Given the description of an element on the screen output the (x, y) to click on. 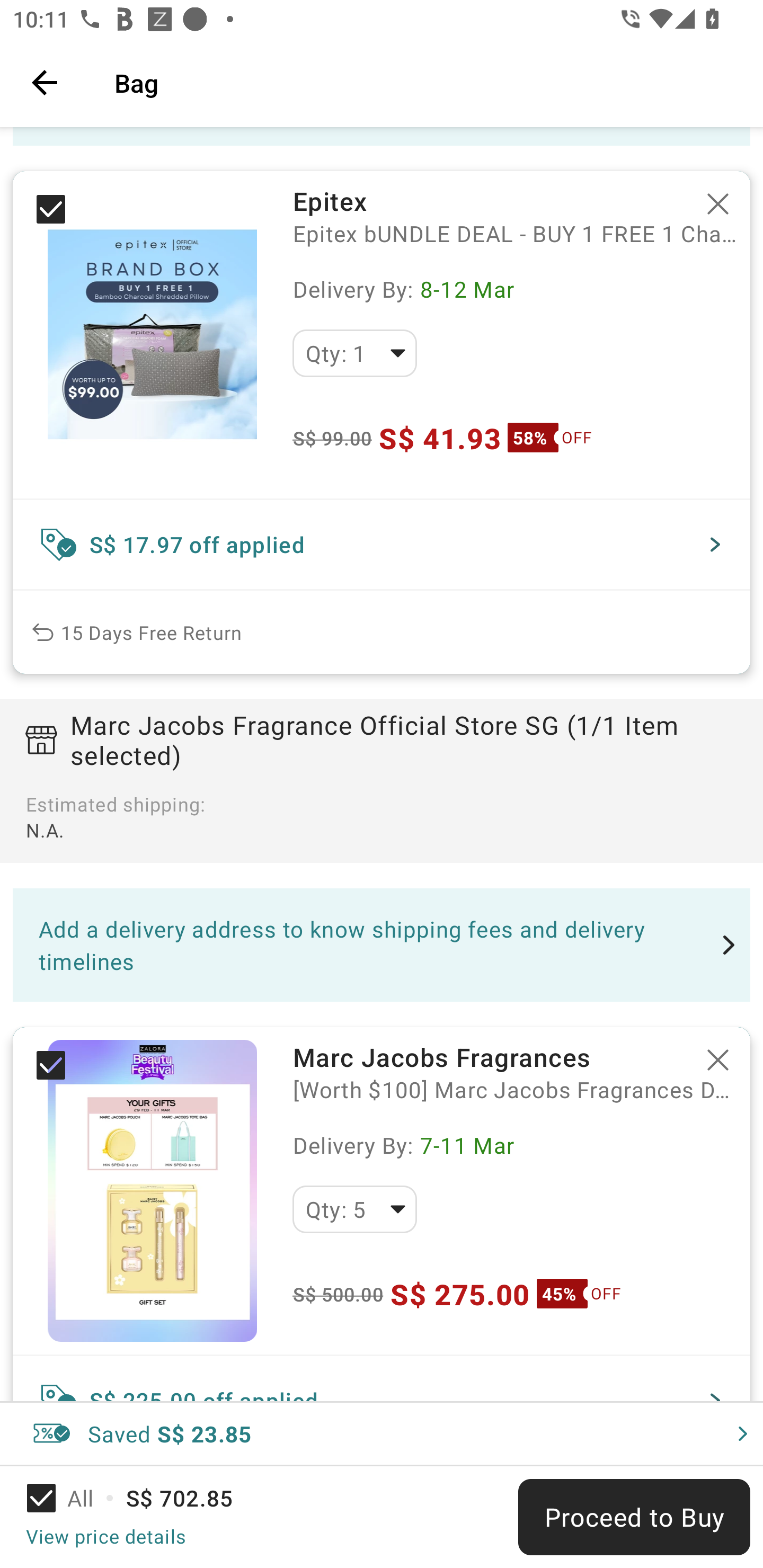
Navigate up (44, 82)
Bag (426, 82)
Qty: 1 (354, 353)
S$ 17.97 off applied (381, 544)
Qty: 5 (354, 1208)
Saved S$ 23.85 (381, 1433)
All (72, 1497)
Proceed to Buy (634, 1516)
View price details (105, 1535)
